Given the description of an element on the screen output the (x, y) to click on. 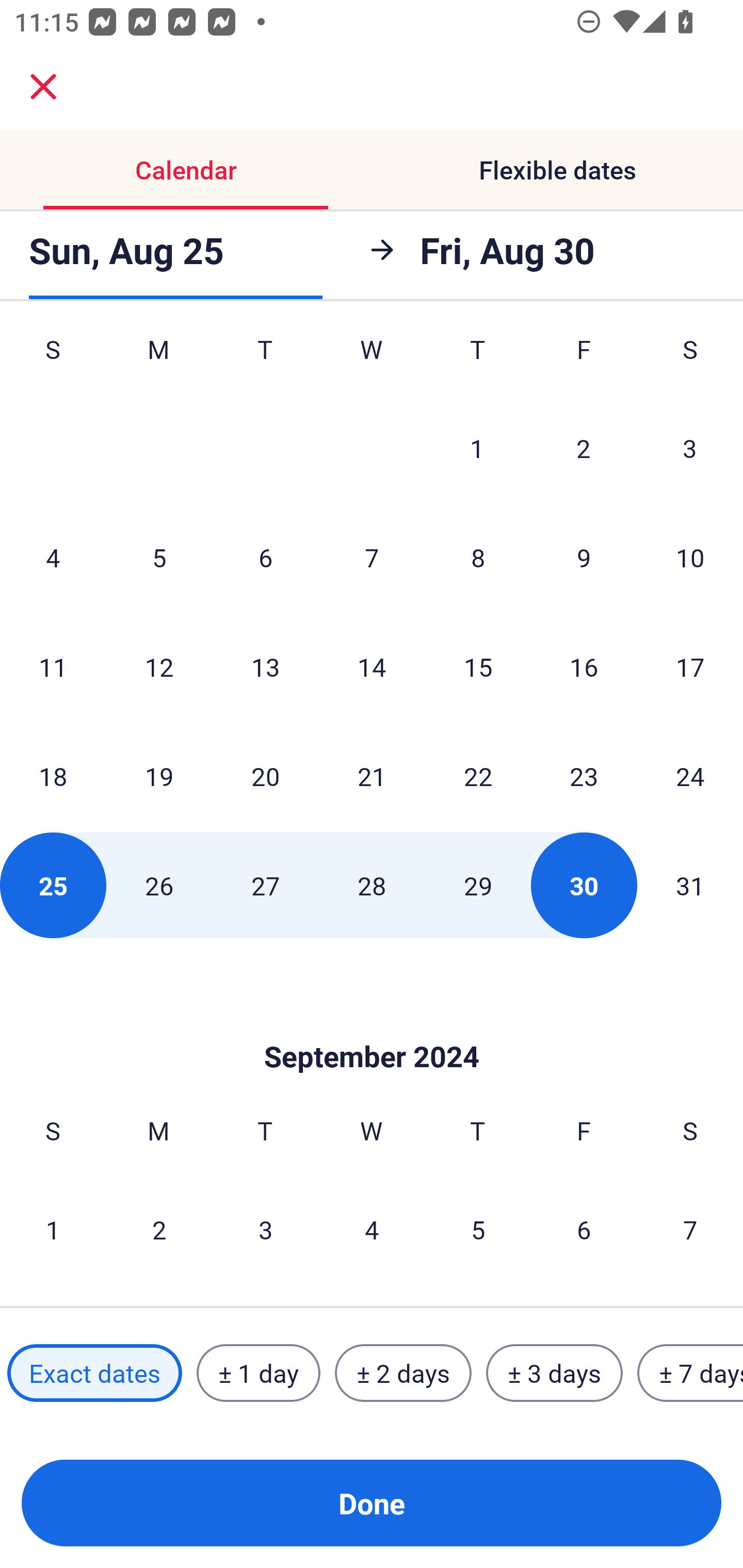
close. (43, 86)
Flexible dates (557, 170)
1 Thursday, August 1, 2024 (477, 447)
2 Friday, August 2, 2024 (583, 447)
3 Saturday, August 3, 2024 (689, 447)
4 Sunday, August 4, 2024 (53, 556)
5 Monday, August 5, 2024 (159, 556)
6 Tuesday, August 6, 2024 (265, 556)
7 Wednesday, August 7, 2024 (371, 556)
8 Thursday, August 8, 2024 (477, 556)
9 Friday, August 9, 2024 (584, 556)
10 Saturday, August 10, 2024 (690, 556)
11 Sunday, August 11, 2024 (53, 666)
12 Monday, August 12, 2024 (159, 666)
13 Tuesday, August 13, 2024 (265, 666)
14 Wednesday, August 14, 2024 (371, 666)
15 Thursday, August 15, 2024 (477, 666)
16 Friday, August 16, 2024 (584, 666)
17 Saturday, August 17, 2024 (690, 666)
18 Sunday, August 18, 2024 (53, 775)
19 Monday, August 19, 2024 (159, 775)
20 Tuesday, August 20, 2024 (265, 775)
21 Wednesday, August 21, 2024 (371, 775)
22 Thursday, August 22, 2024 (477, 775)
23 Friday, August 23, 2024 (584, 775)
24 Saturday, August 24, 2024 (690, 775)
31 Saturday, August 31, 2024 (690, 884)
Skip to Done (371, 1026)
1 Sunday, September 1, 2024 (53, 1229)
2 Monday, September 2, 2024 (159, 1229)
3 Tuesday, September 3, 2024 (265, 1229)
4 Wednesday, September 4, 2024 (371, 1229)
5 Thursday, September 5, 2024 (477, 1229)
6 Friday, September 6, 2024 (584, 1229)
7 Saturday, September 7, 2024 (690, 1229)
Exact dates (94, 1372)
± 1 day (258, 1372)
± 2 days (403, 1372)
± 3 days (553, 1372)
± 7 days (690, 1372)
Done (371, 1502)
